Given the description of an element on the screen output the (x, y) to click on. 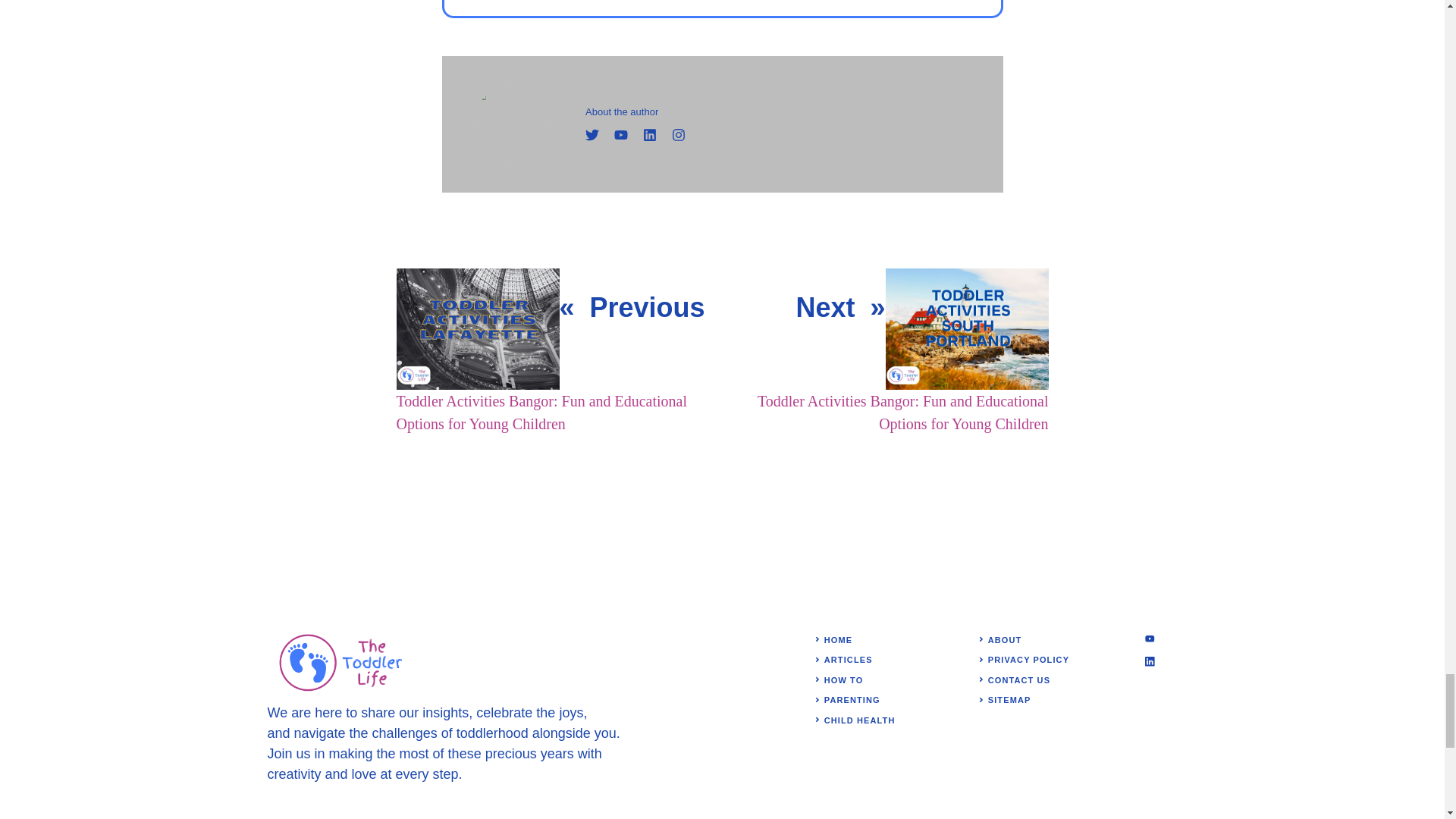
CHILD HEALTH (859, 719)
HOME (837, 639)
Previous (646, 306)
PARENTING (852, 699)
ABOUT (1005, 639)
CONTACT US (1018, 679)
HOW TO (843, 679)
PRIVACY POLICY (1028, 659)
blue and purple logo (342, 662)
ARTICLES (848, 659)
SITEMAP (1009, 699)
Next (824, 306)
